Given the description of an element on the screen output the (x, y) to click on. 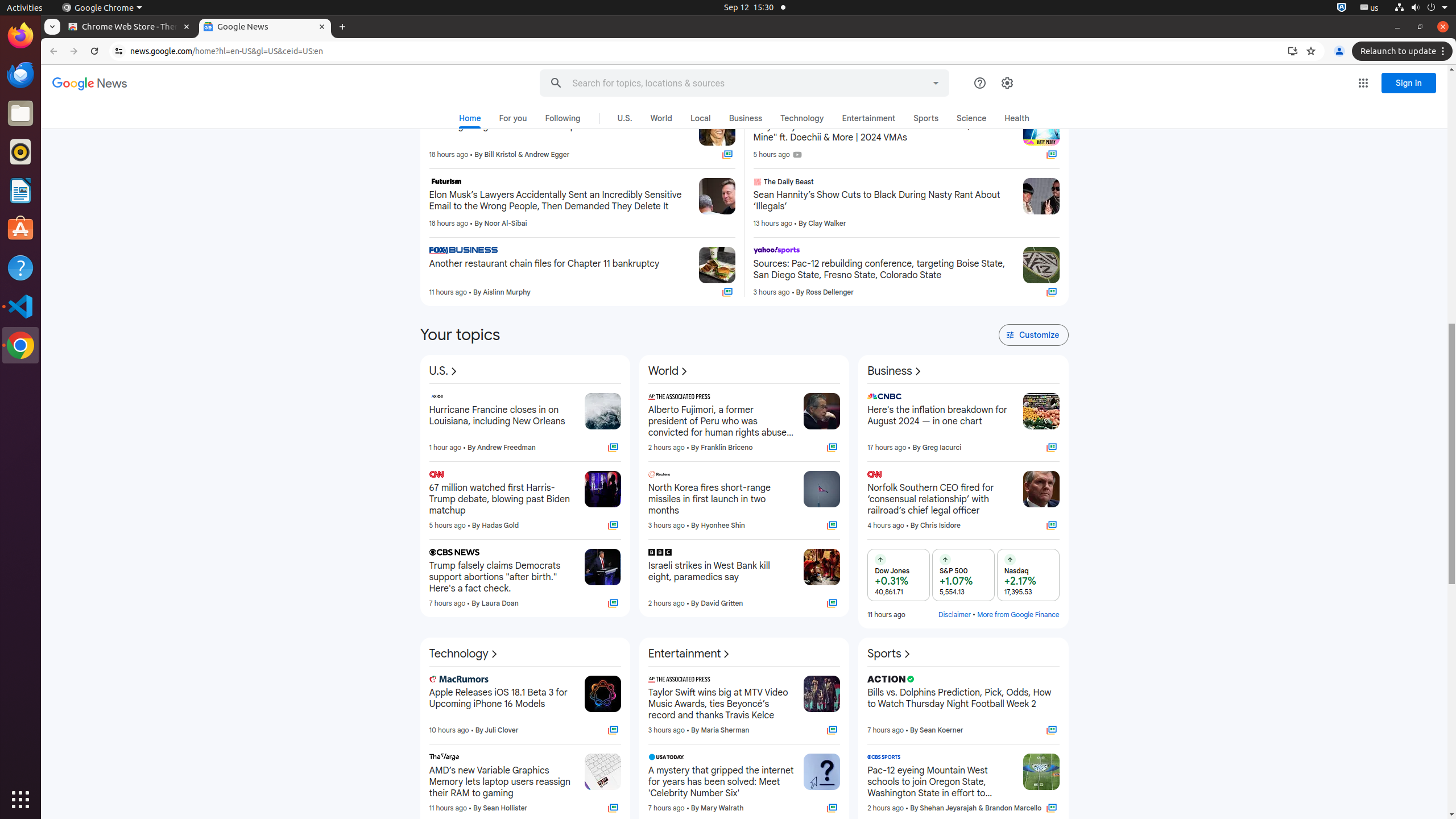
Google Chrome Element type: push-button (20, 344)
LibreOffice Writer Element type: push-button (20, 190)
Forward Element type: push-button (73, 50)
Alberto Fujimori, a former president of Peru who was convicted for human rights abuses, dies at 86 Element type: link (721, 421)
Apple Releases iOS 18.1 Beta 3 for Upcoming iPhone 16 Models Element type: link (501, 704)
